Given the description of an element on the screen output the (x, y) to click on. 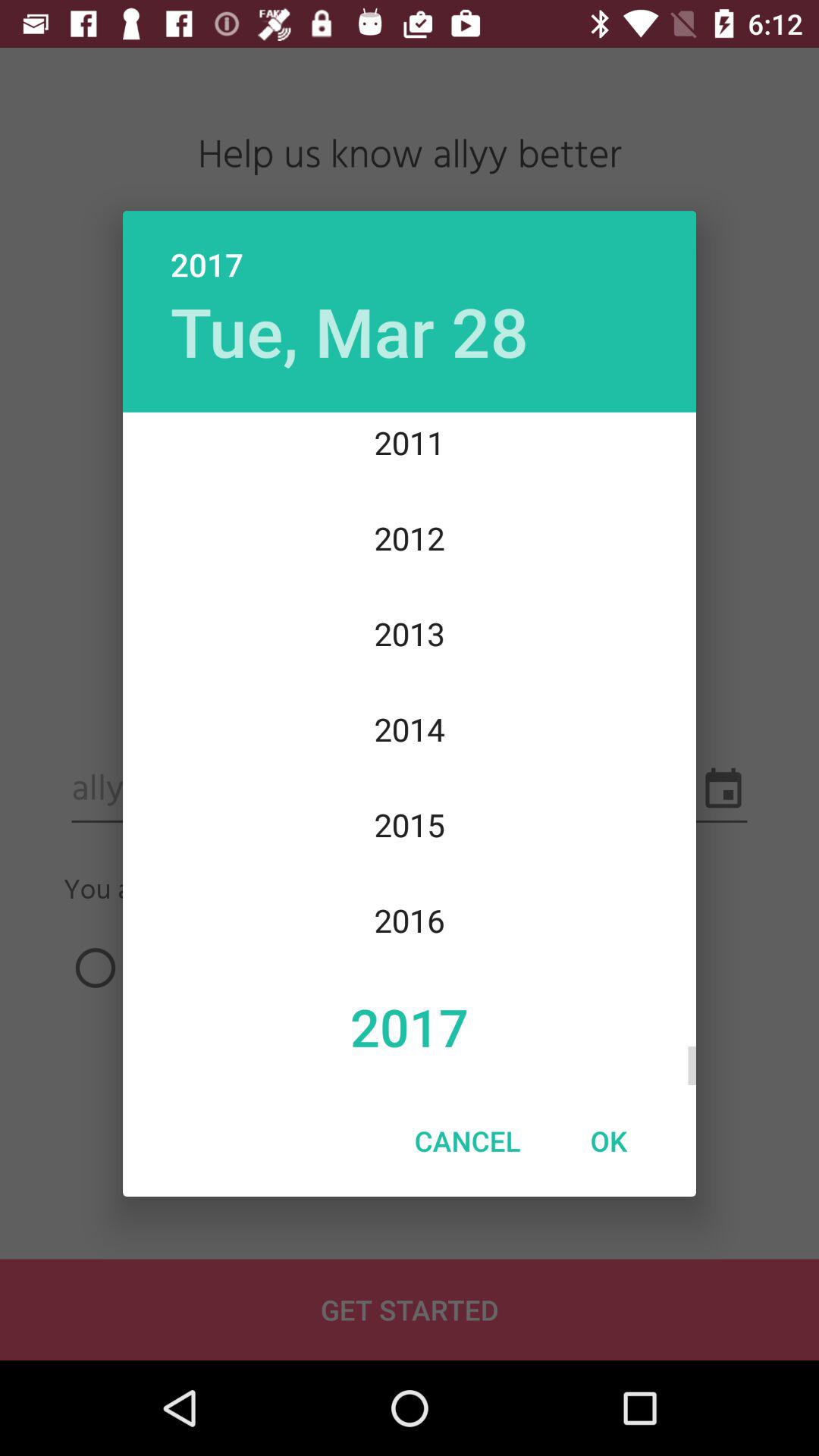
open icon below 2017 icon (349, 331)
